Given the description of an element on the screen output the (x, y) to click on. 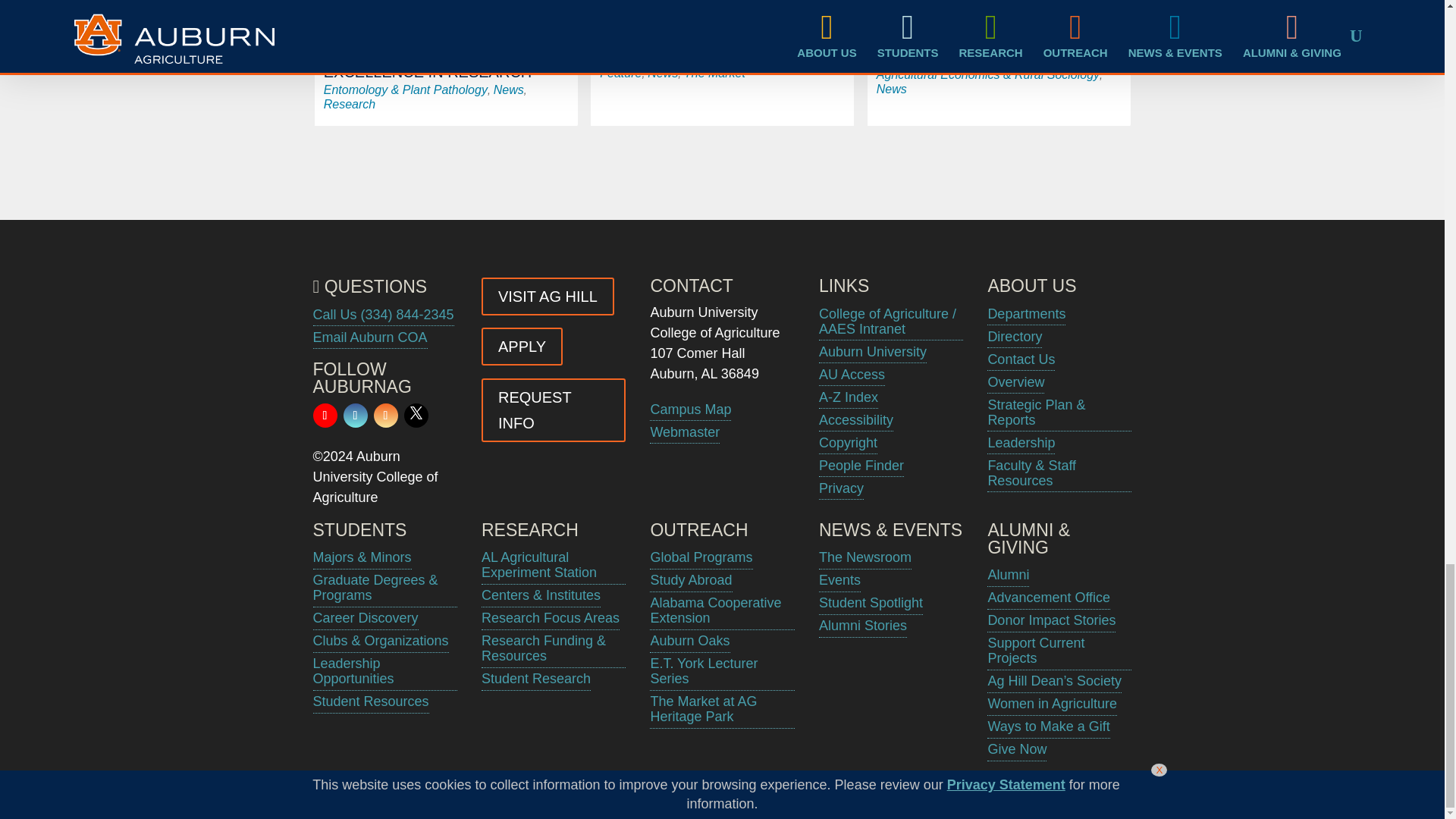
Follow on Instagram (384, 415)
Follow on Youtube (324, 415)
Follow on X (415, 415)
General Email for Auburn University College of Agriculture (369, 336)
Follow on Facebook (354, 415)
